Given the description of an element on the screen output the (x, y) to click on. 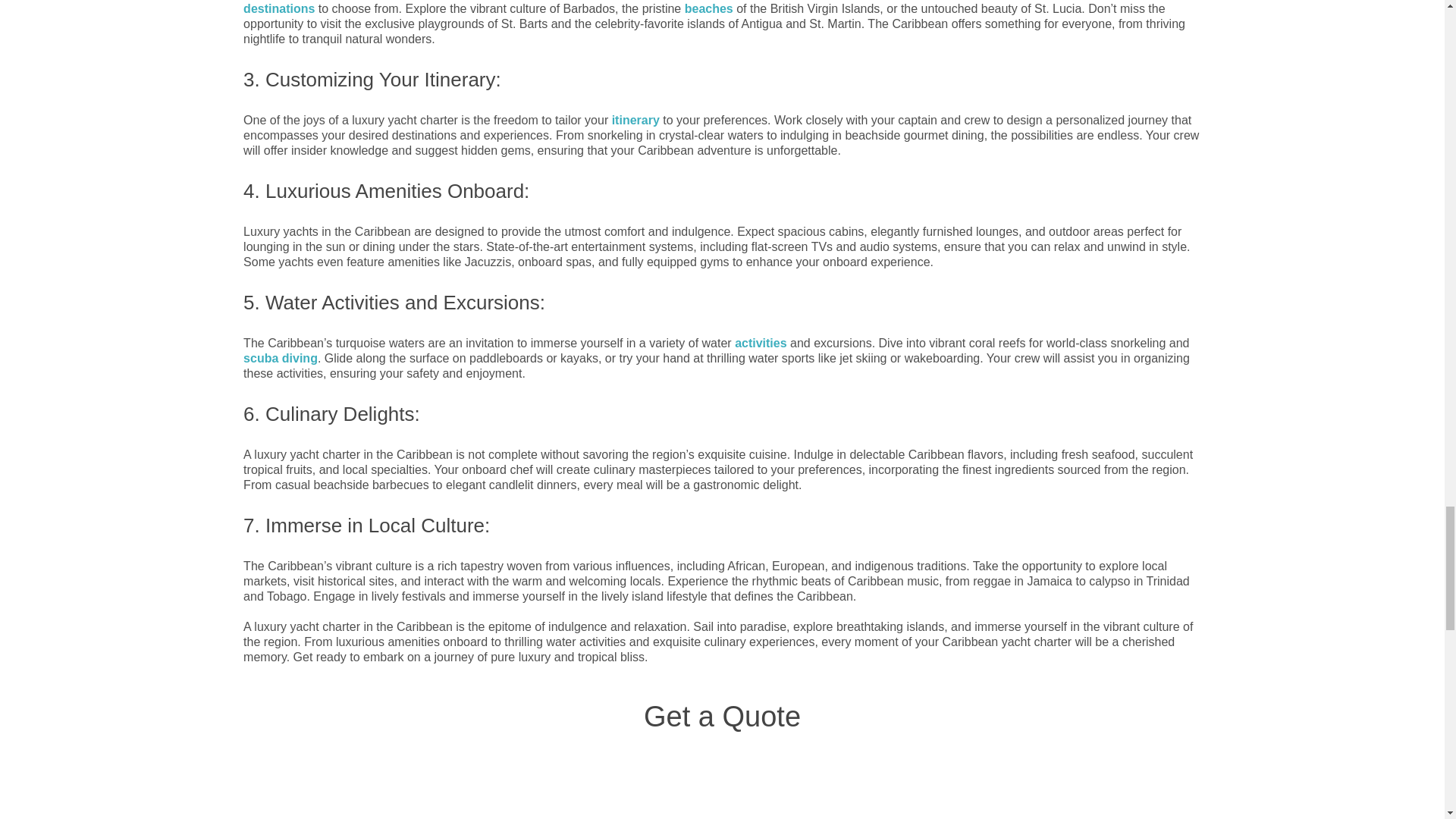
activities (760, 342)
destinations (278, 8)
beaches (708, 8)
itinerary (635, 119)
Canvas Waves 2 (356, 786)
scuba diving (280, 358)
